Given the description of an element on the screen output the (x, y) to click on. 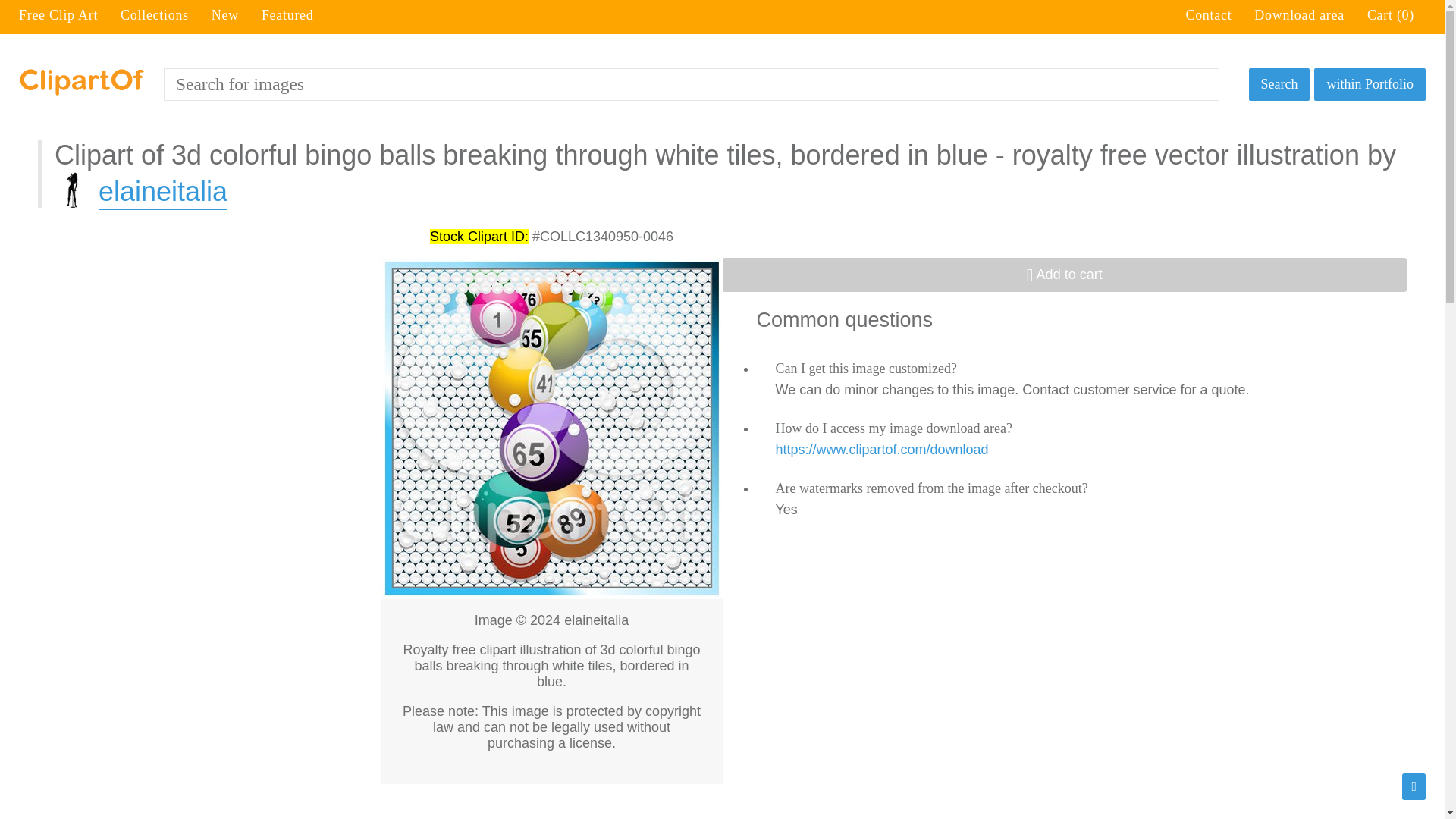
Search (1277, 83)
Collections (154, 15)
Free Clip Art (57, 15)
Download area (1298, 15)
Contact (1208, 15)
within Portfolio (1369, 83)
Clipart Of (81, 81)
elaineitalia (141, 191)
Featured (288, 15)
Clipart Of (81, 83)
New (224, 15)
Search (1277, 83)
Add to cart (1064, 274)
